Given the description of an element on the screen output the (x, y) to click on. 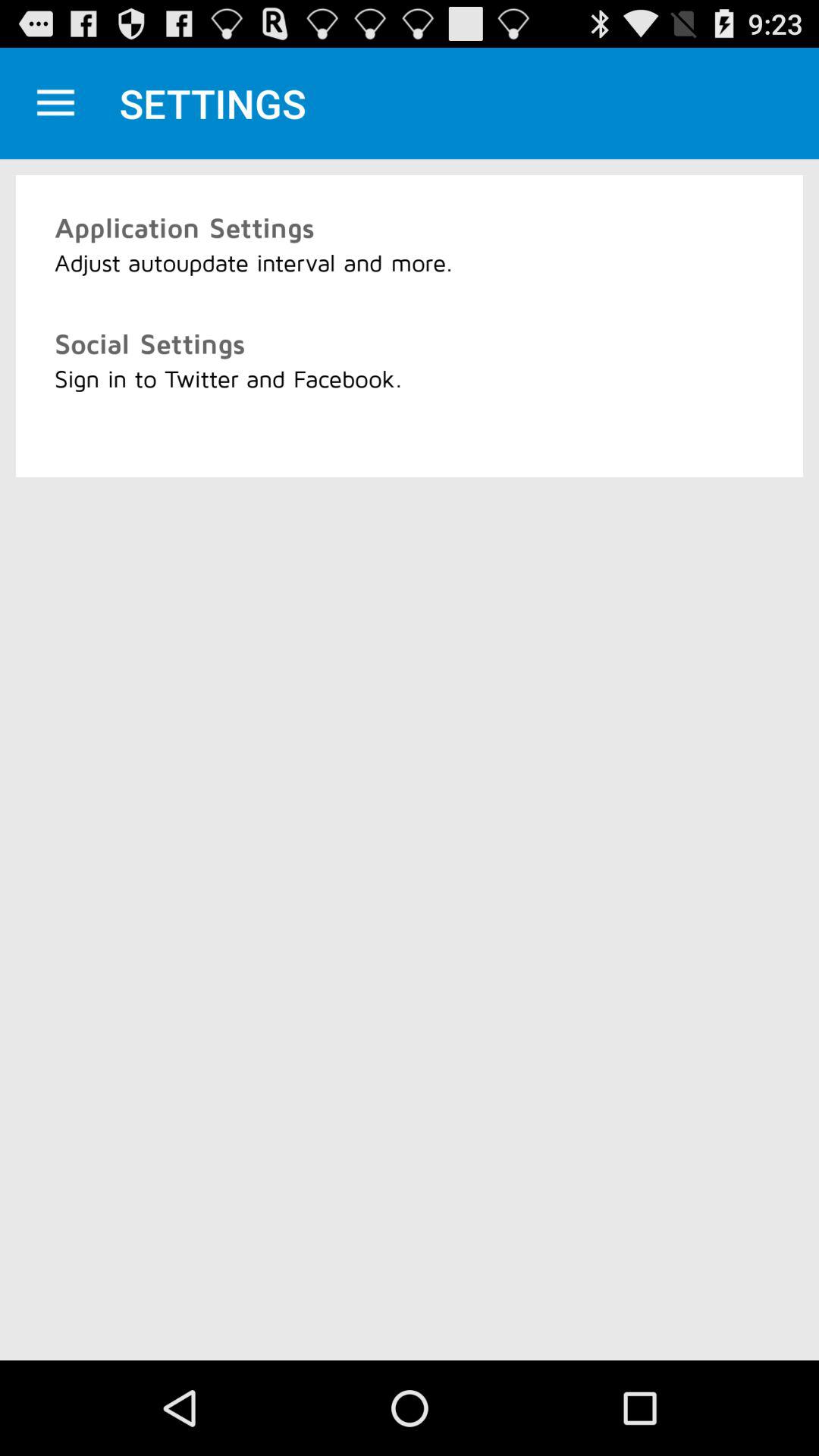
turn on the item above application settings (55, 103)
